Given the description of an element on the screen output the (x, y) to click on. 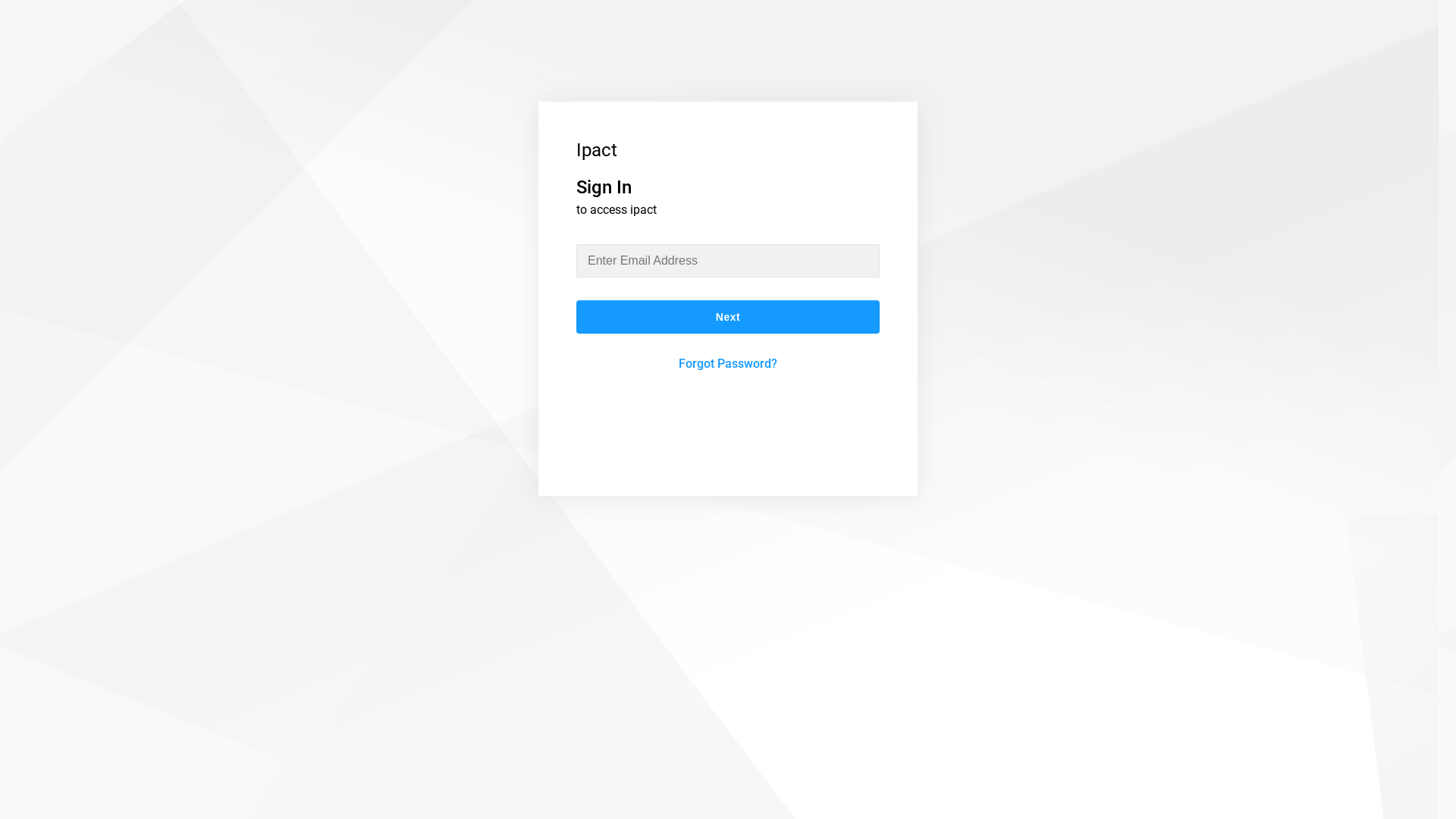
Next Element type: text (727, 316)
Forgot Password? Element type: text (727, 363)
